Given the description of an element on the screen output the (x, y) to click on. 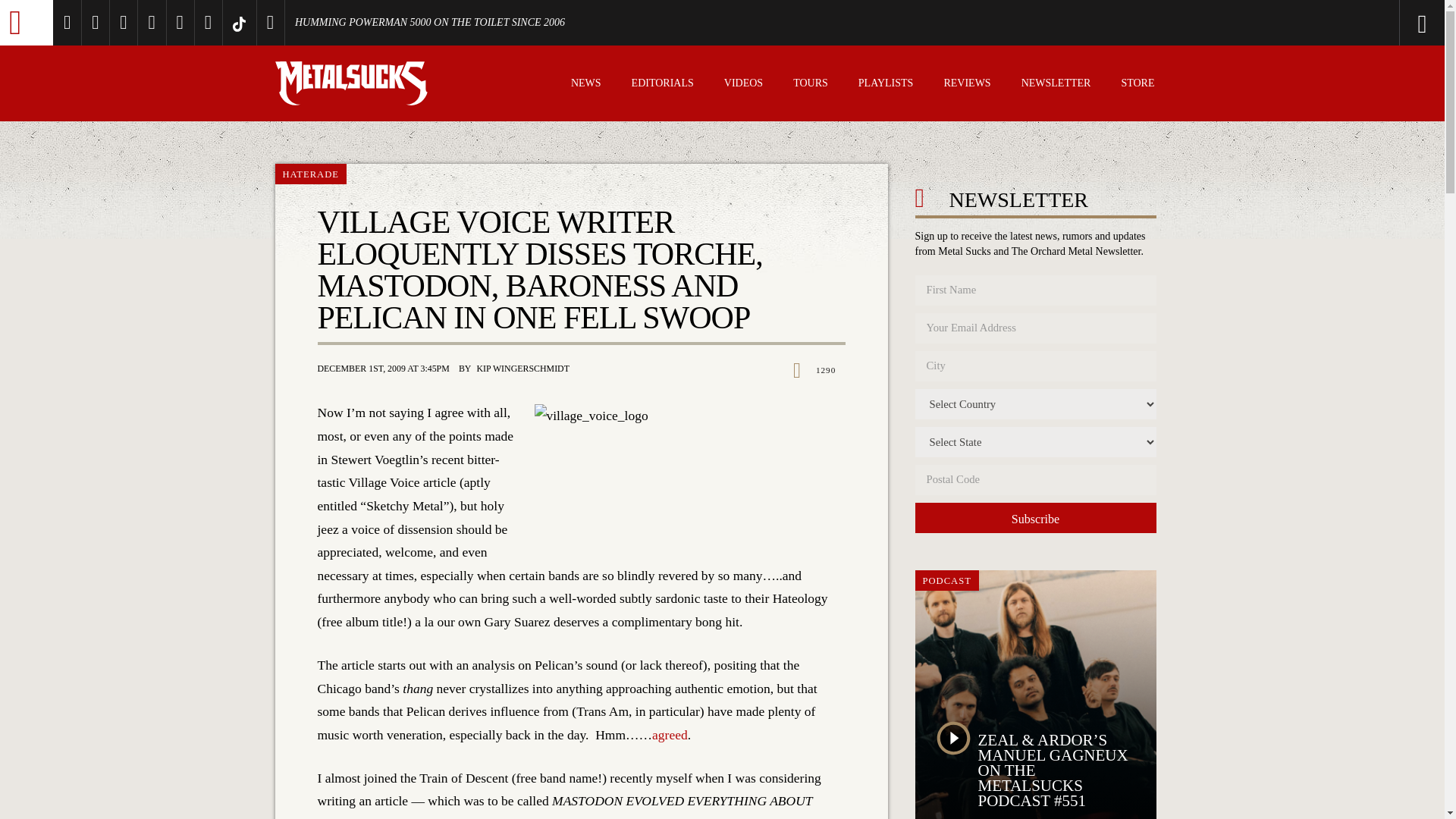
STORE (1137, 84)
EDITORIALS (662, 84)
NEWS (585, 84)
TOURS (810, 84)
PLAYLISTS (886, 84)
REVIEWS (966, 84)
Metal Sucks (26, 22)
Subscribe (1035, 517)
Search (1361, 22)
VIDEOS (742, 84)
